Given the description of an element on the screen output the (x, y) to click on. 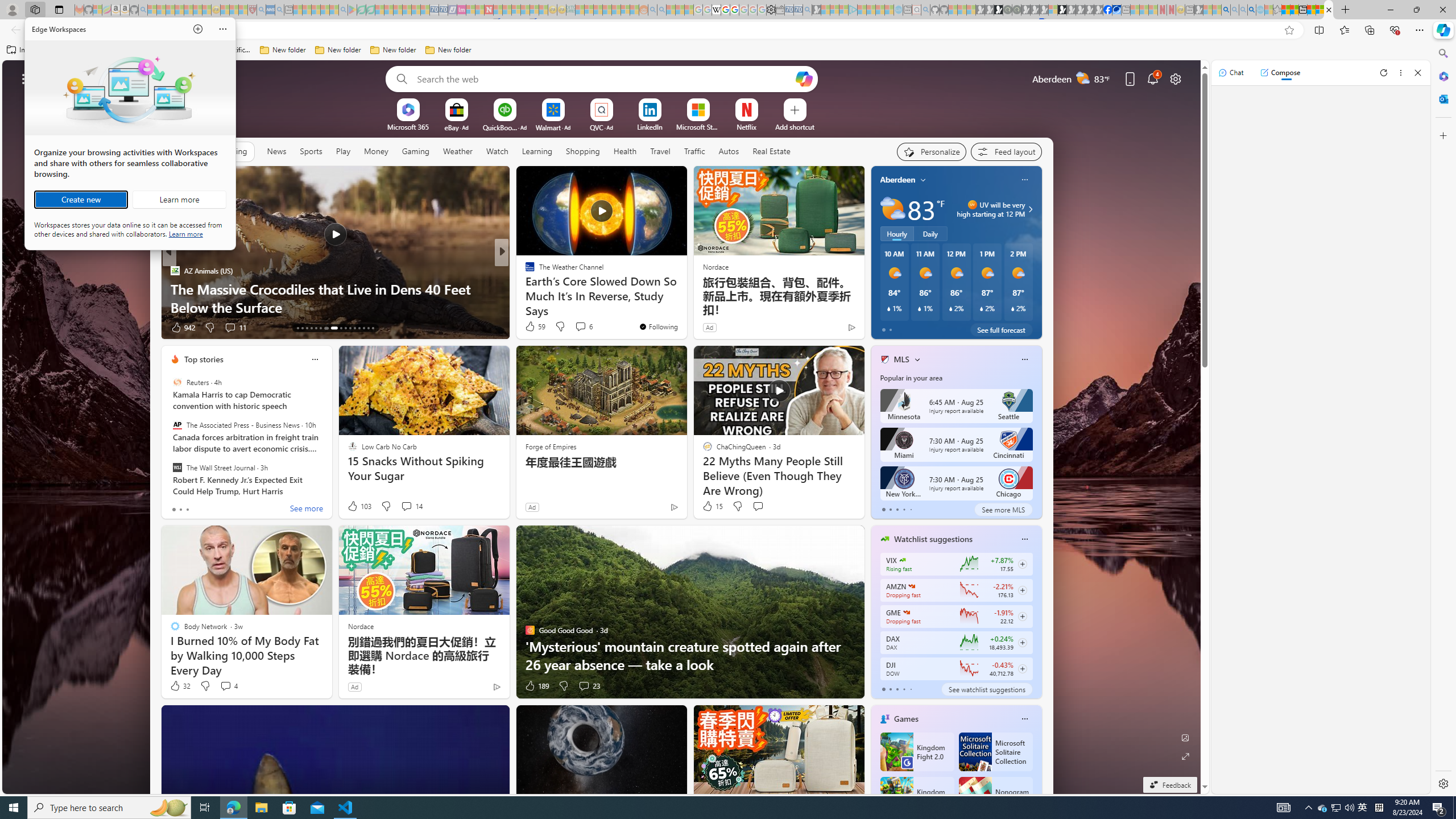
View comments 23 Comment (588, 685)
Bing AI - Search (1225, 9)
Partly sunny (892, 208)
Autos (728, 151)
AutomationID: tab-21 (337, 328)
AQI & Health | AirNow.gov (1116, 9)
